Given the description of an element on the screen output the (x, y) to click on. 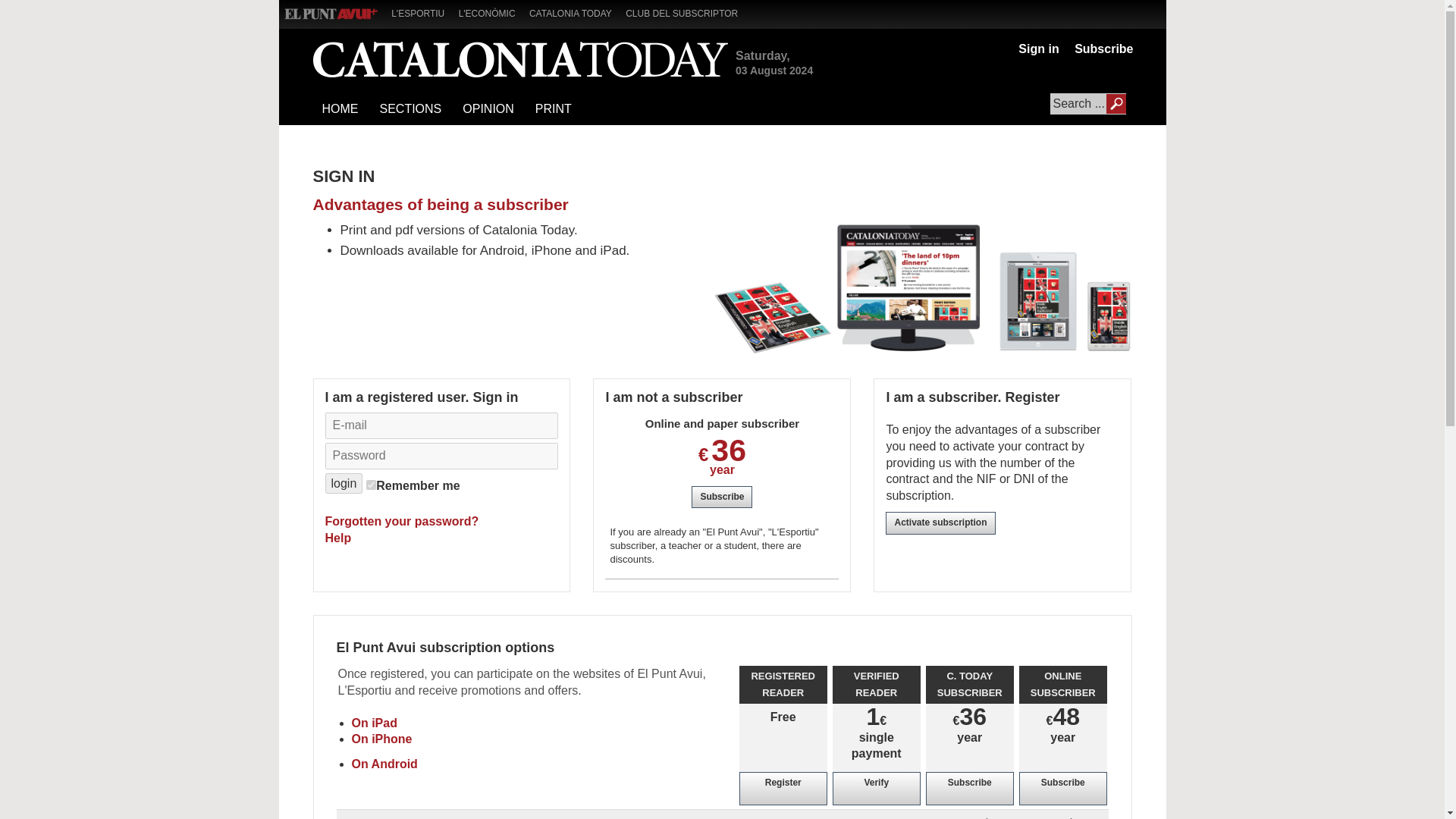
login (343, 483)
On iPad (374, 722)
On Android (384, 763)
login (343, 483)
Sign in (1037, 49)
Search ... (1087, 103)
Forgotten your password? (401, 521)
OPINION (487, 109)
Subscribe (721, 496)
L'ESPORTIU (423, 12)
Search ... (1087, 103)
Register (783, 788)
CLUB DEL SUBSCRIPTOR (687, 12)
Activate subscription (939, 522)
Verify (876, 788)
